Given the description of an element on the screen output the (x, y) to click on. 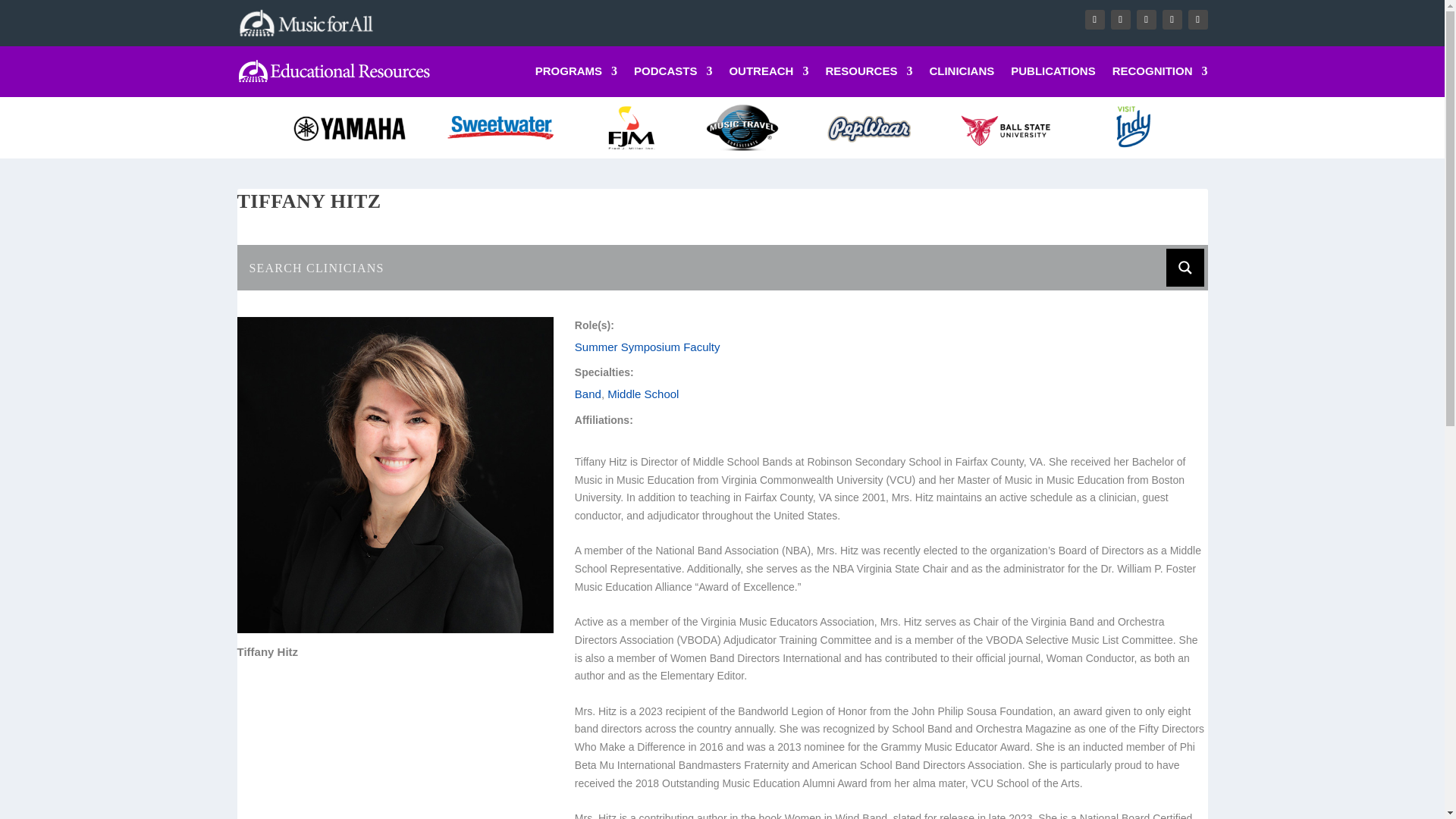
PROGRAMS (576, 74)
Follow on Instagram (1145, 19)
Follow on X (1119, 19)
Follow on LinkedIn (1170, 19)
PODCASTS (672, 74)
Follow on Facebook (1093, 19)
RESOURCES (868, 74)
OUTREACH (768, 74)
Follow on Youtube (1197, 19)
Sponsor Logos Bar March 2024 (721, 127)
